Given the description of an element on the screen output the (x, y) to click on. 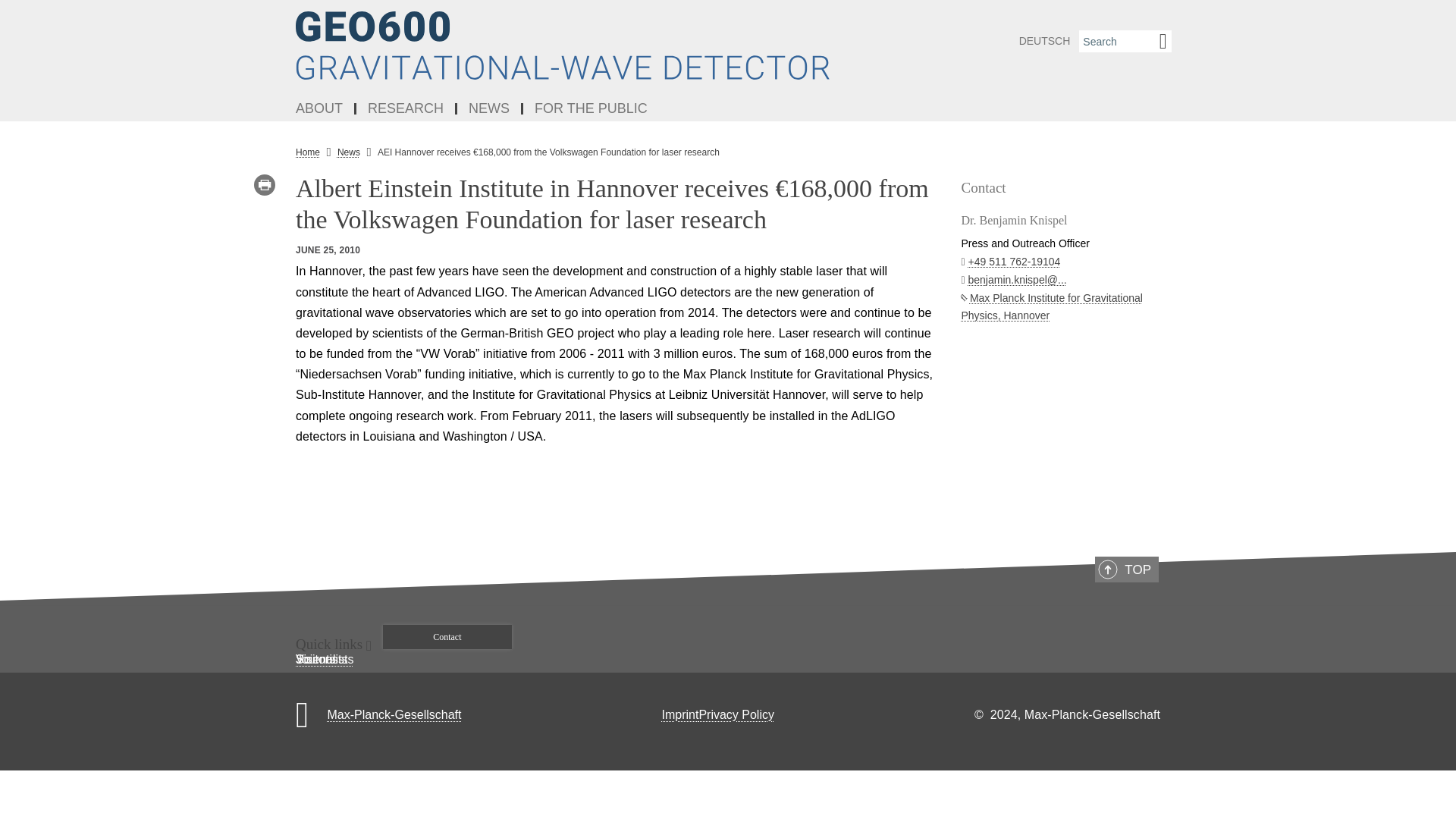
RESEARCH (406, 108)
NEWS (489, 108)
DEUTSCH (1044, 41)
Max Planck Institute for Gravitational Physics, Hannover (1051, 306)
FOR THE PUBLIC (590, 108)
Print (264, 184)
ABOUT (319, 108)
